Given the description of an element on the screen output the (x, y) to click on. 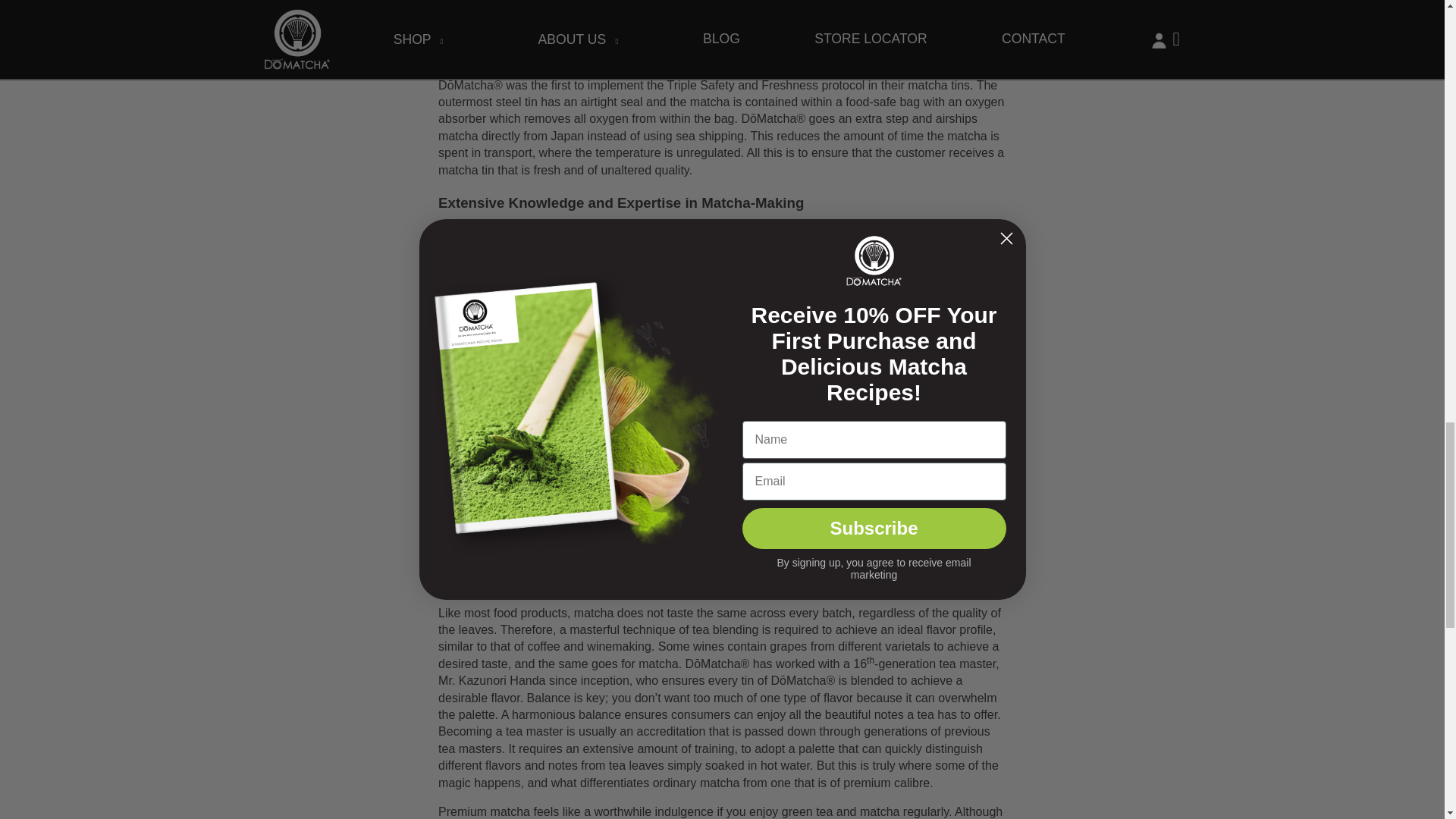
packaging technology (739, 67)
